Given the description of an element on the screen output the (x, y) to click on. 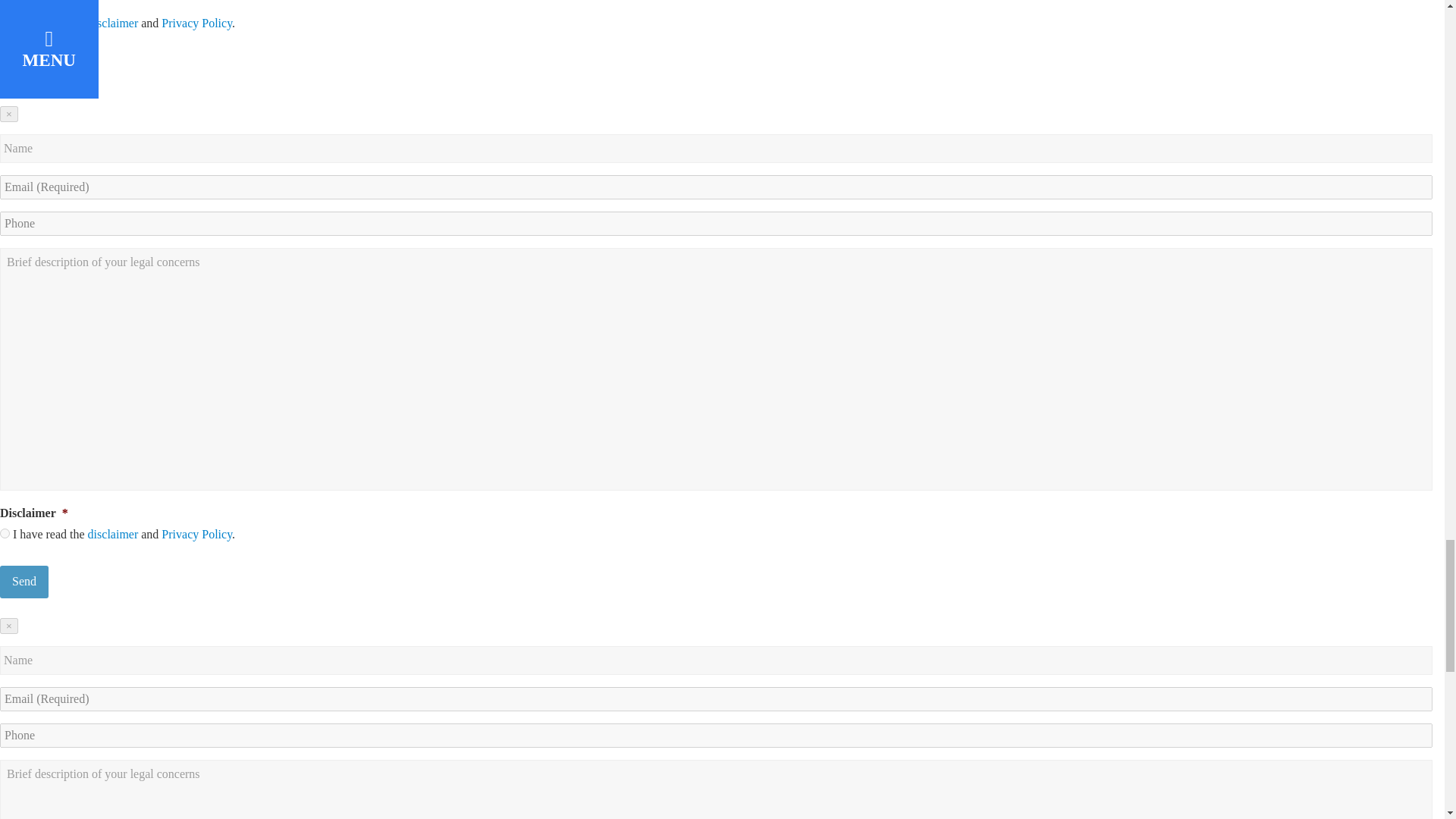
Send (24, 70)
Send (24, 581)
